Given the description of an element on the screen output the (x, y) to click on. 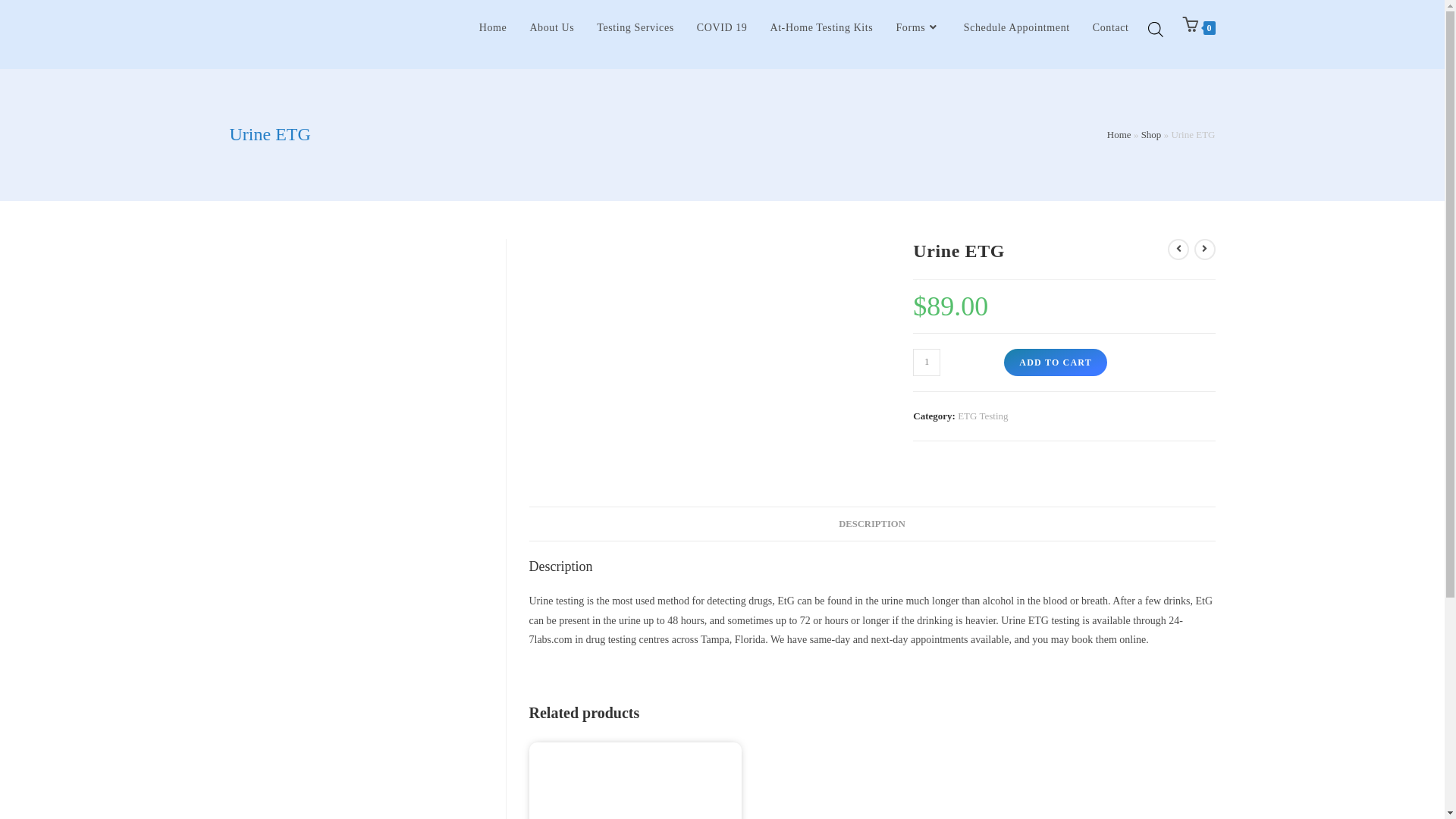
ADD TO CART Element type: text (1055, 362)
Shop Element type: text (1151, 134)
Forms Element type: text (917, 28)
Home Element type: text (1119, 134)
ETG Testing Element type: text (982, 415)
Contact Element type: text (1110, 28)
DESCRIPTION Element type: text (871, 524)
Schedule Appointment Element type: text (1016, 28)
10133 Element type: text (1142, 24)
COVID 19 Element type: text (722, 28)
Home Element type: text (492, 28)
Testing Services Element type: text (635, 28)
0 Element type: text (1198, 28)
About Us Element type: text (551, 28)
At-Home Testing Kits Element type: text (821, 28)
